Given the description of an element on the screen output the (x, y) to click on. 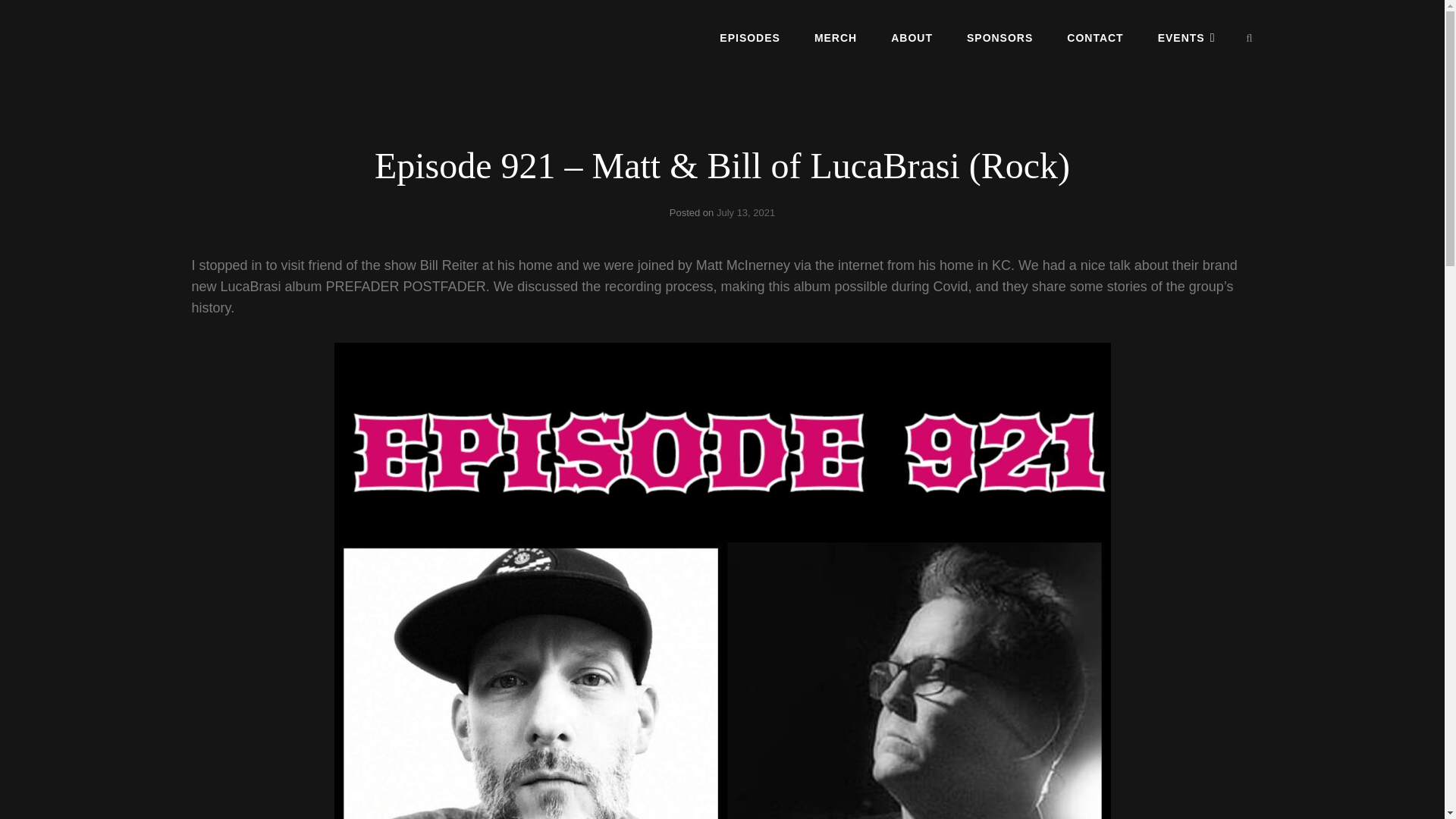
ROCK PAPER PODCAST (304, 50)
EVENTS (1186, 37)
SPONSORS (1000, 37)
EPISODES (749, 37)
CONTACT (1094, 37)
ABOUT (911, 37)
July 13, 2021 (745, 212)
MERCH (835, 37)
SEARCH (1249, 37)
